Given the description of an element on the screen output the (x, y) to click on. 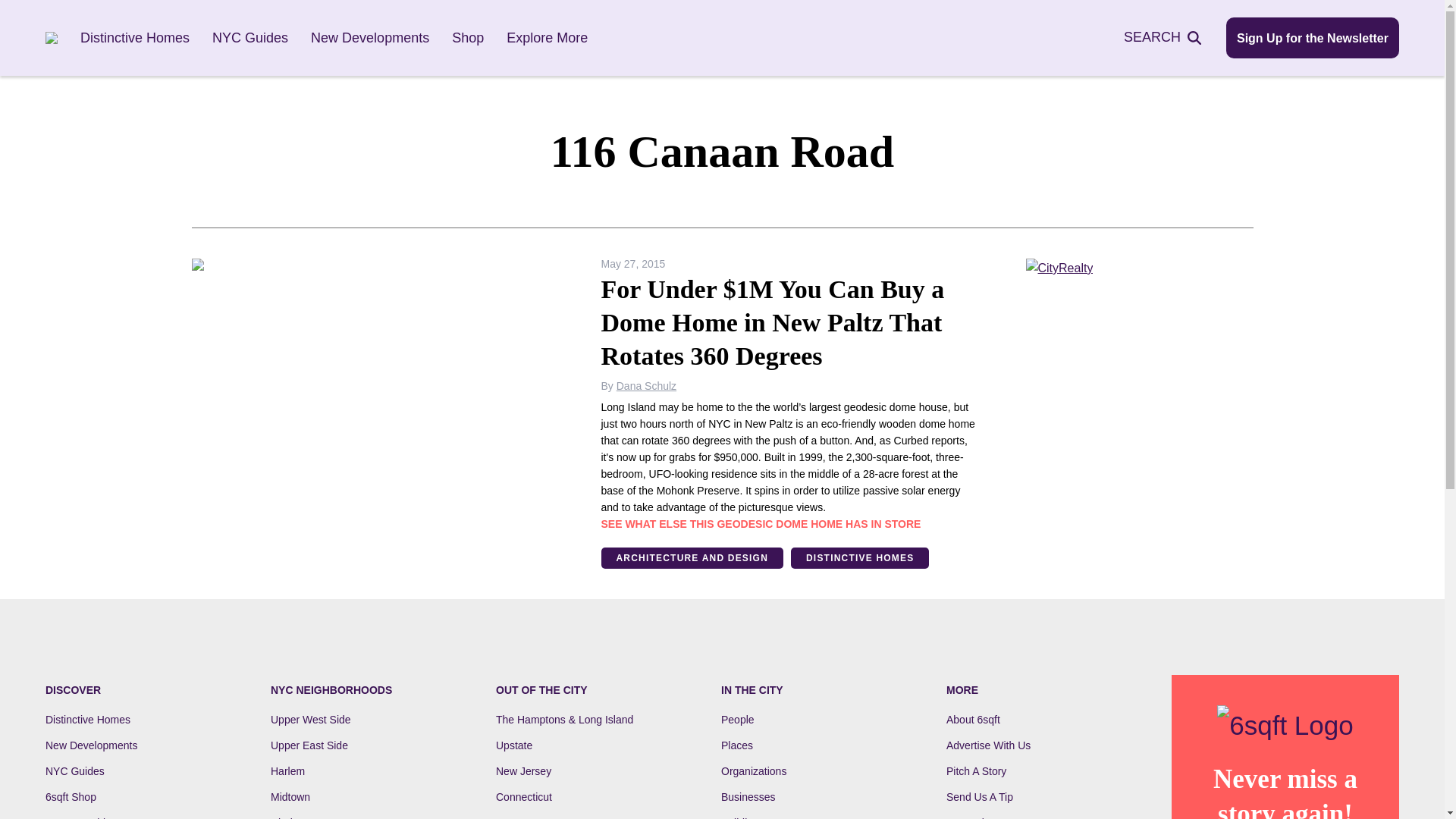
SEE WHAT ELSE THIS GEODESIC DOME HOME HAS IN STORE (759, 523)
DISTINCTIVE HOMES (859, 557)
ARCHITECTURE AND DESIGN (691, 557)
Upper West Side (310, 719)
Posts by Dana Schulz (646, 386)
6sqft Shop (70, 797)
Distinctive Homes (88, 719)
New Developments (370, 37)
Distinctive Homes (134, 37)
NYC Guides (250, 37)
